Given the description of an element on the screen output the (x, y) to click on. 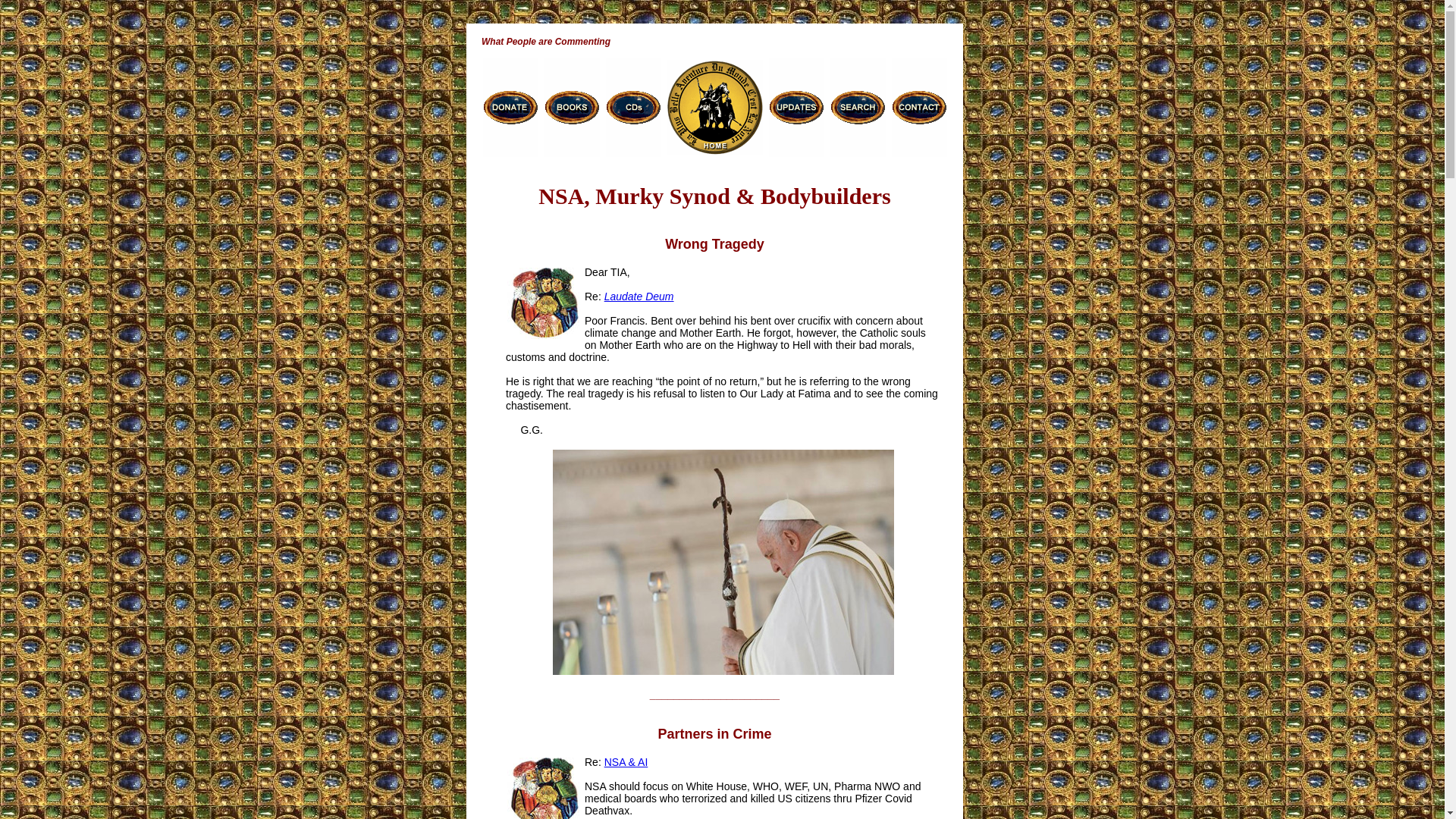
Laudate Deum (639, 296)
